Given the description of an element on the screen output the (x, y) to click on. 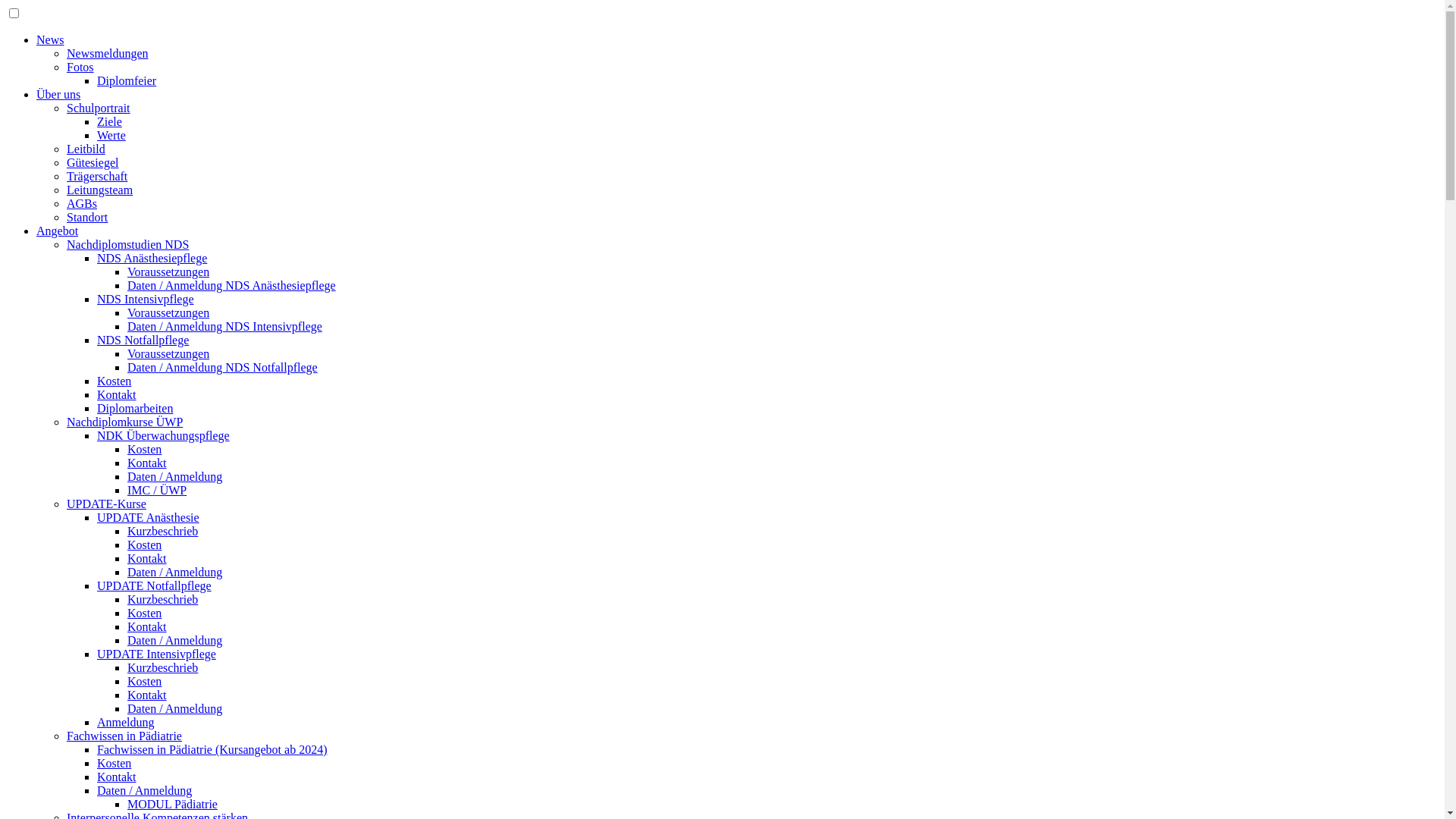
AGBs Element type: text (81, 203)
Kontakt Element type: text (116, 394)
UPDATE Notfallpflege Element type: text (154, 585)
NDS Notfallpflege Element type: text (142, 339)
Kosten Element type: text (144, 680)
Kurzbeschrieb Element type: text (162, 599)
UPDATE-Kurse Element type: text (106, 503)
Standort Element type: text (86, 216)
Kontakt Element type: text (146, 626)
Werte Element type: text (111, 134)
Kosten Element type: text (114, 762)
Daten / Anmeldung Element type: text (174, 708)
Voraussetzungen Element type: text (168, 353)
Nachdiplomstudien NDS Element type: text (127, 244)
Voraussetzungen Element type: text (168, 312)
Anmeldung Element type: text (125, 721)
Kosten Element type: text (144, 448)
Kurzbeschrieb Element type: text (162, 530)
Diplomarbeiten Element type: text (134, 407)
Daten / Anmeldung NDS Intensivpflege Element type: text (224, 326)
Diplomfeier Element type: text (126, 80)
Kosten Element type: text (114, 380)
Kontakt Element type: text (116, 776)
Voraussetzungen Element type: text (168, 271)
Daten / Anmeldung Element type: text (174, 476)
Schulportrait Element type: text (98, 107)
Kosten Element type: text (144, 612)
Daten / Anmeldung Element type: text (174, 571)
Kontakt Element type: text (146, 694)
Angebot Element type: text (57, 230)
Kosten Element type: text (144, 544)
News Element type: text (49, 39)
Daten / Anmeldung Element type: text (144, 790)
Daten / Anmeldung Element type: text (174, 639)
Leitbild Element type: text (85, 148)
Kontakt Element type: text (146, 558)
NDS Intensivpflege Element type: text (145, 298)
Ziele Element type: text (109, 121)
Leitungsteam Element type: text (99, 189)
Kurzbeschrieb Element type: text (162, 667)
Fotos Element type: text (80, 66)
UPDATE Intensivpflege Element type: text (156, 653)
Kontakt Element type: text (146, 462)
Newsmeldungen Element type: text (107, 53)
Daten / Anmeldung NDS Notfallpflege Element type: text (222, 366)
